Given the description of an element on the screen output the (x, y) to click on. 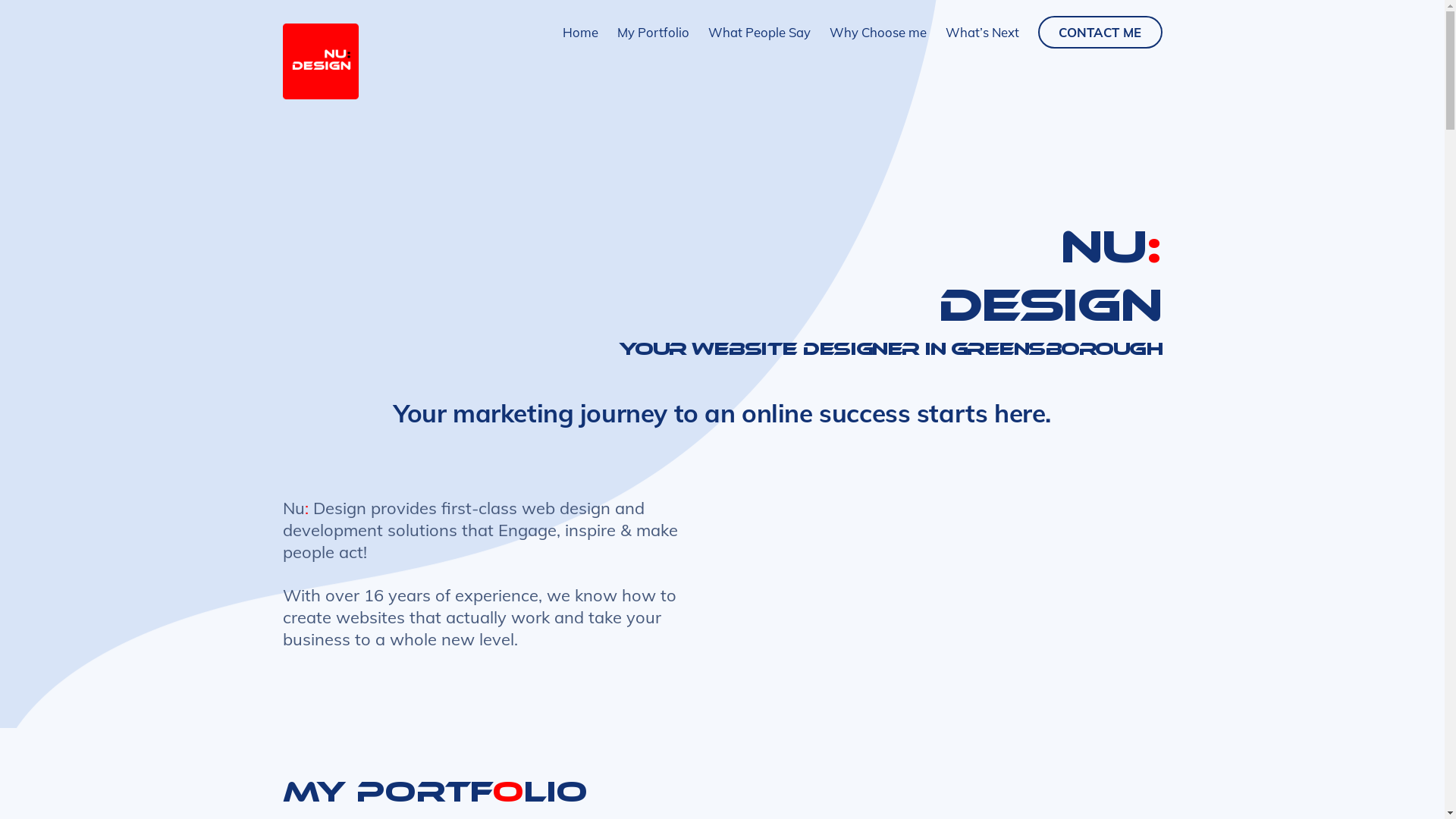
Nu Design Element type: hover (319, 92)
My Portfolio Element type: text (652, 31)
What People Say Element type: text (759, 31)
Home Element type: text (580, 31)
Why Choose me Element type: text (878, 31)
CONTACT ME Element type: text (1099, 31)
Nu Design (2) Element type: hover (319, 61)
